Given the description of an element on the screen output the (x, y) to click on. 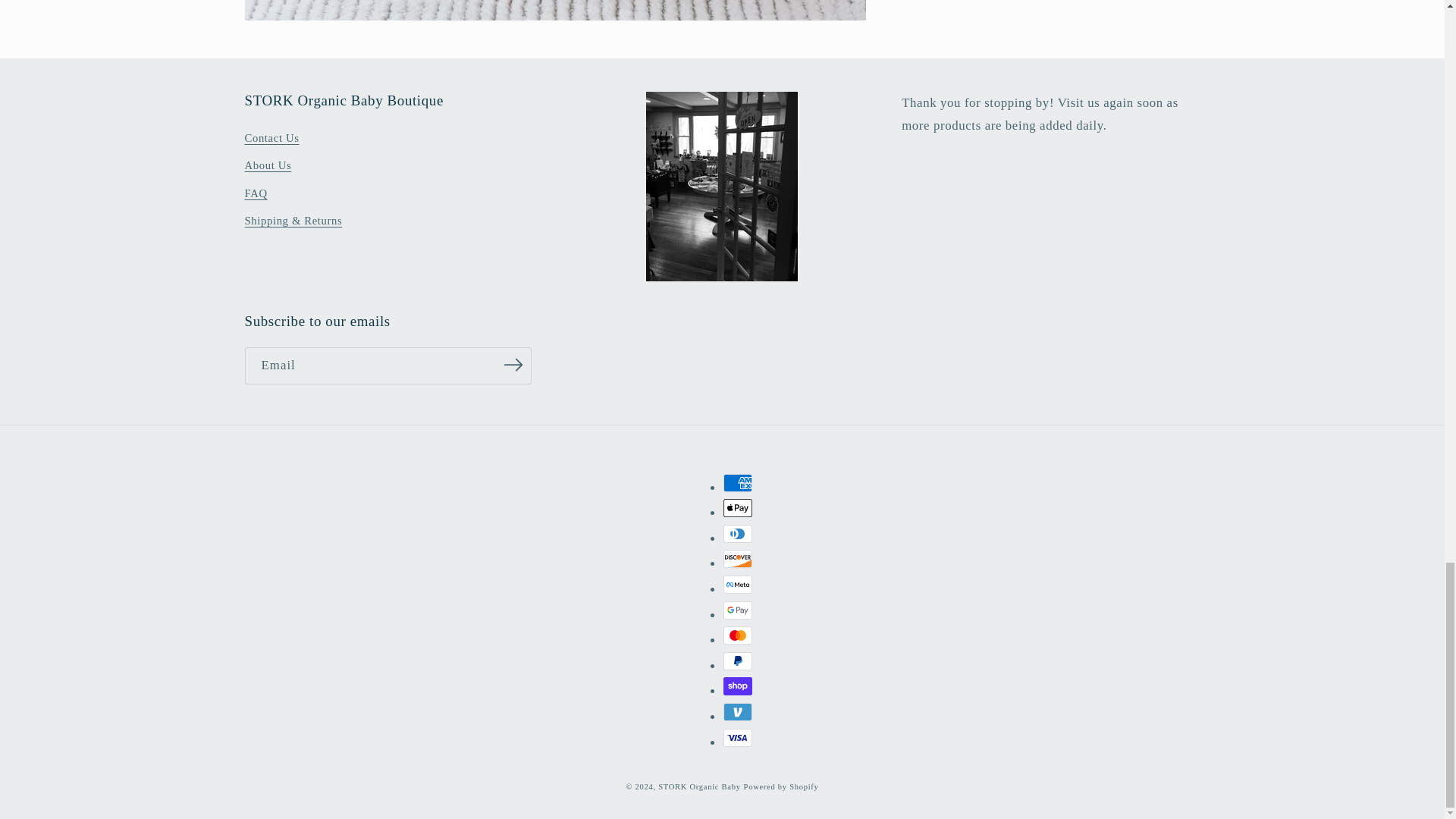
Google Pay (737, 610)
Venmo (737, 711)
Shop Pay (737, 686)
American Express (737, 483)
Apple Pay (737, 507)
Discover (737, 558)
PayPal (737, 660)
Meta Pay (737, 584)
Mastercard (737, 635)
Diners Club (737, 533)
